Given the description of an element on the screen output the (x, y) to click on. 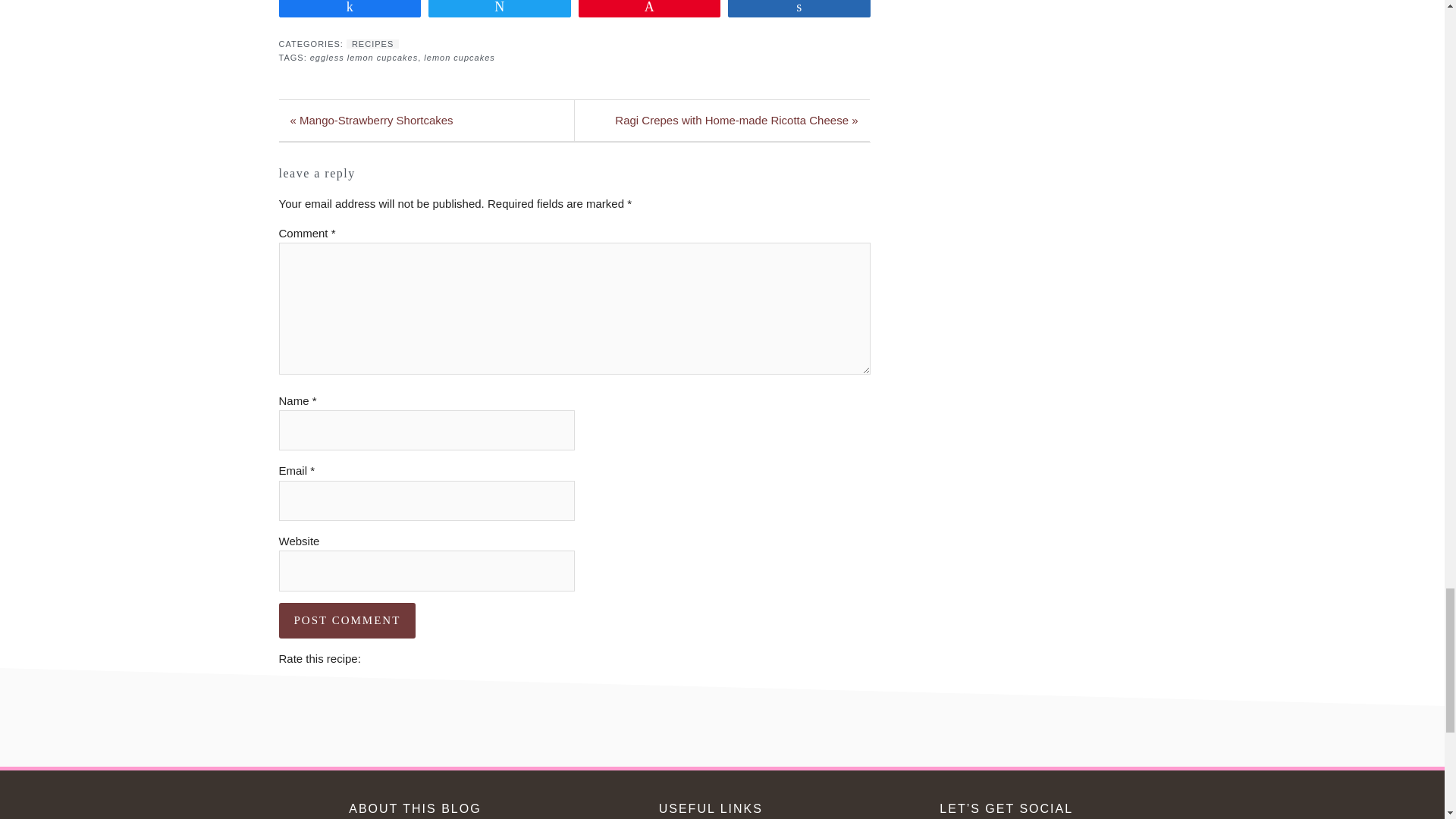
RECIPES (372, 43)
Post Comment (347, 620)
Post Comment (347, 620)
lemon cupcakes (459, 57)
eggless lemon cupcakes (363, 57)
